Given the description of an element on the screen output the (x, y) to click on. 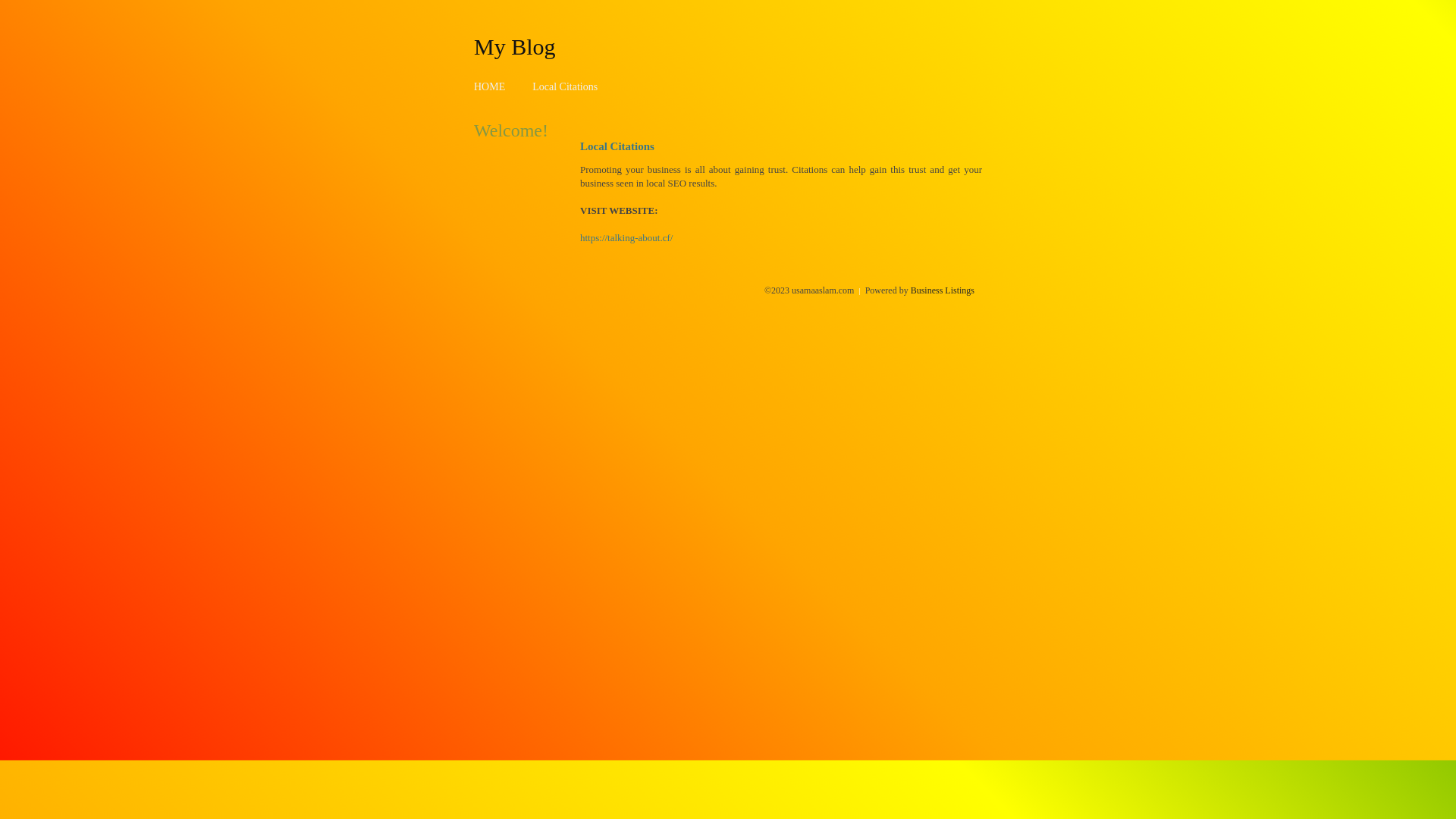
HOME Element type: text (489, 86)
Business Listings Element type: text (942, 290)
My Blog Element type: text (514, 46)
Local Citations Element type: text (564, 86)
https://talking-about.cf/ Element type: text (626, 237)
